Given the description of an element on the screen output the (x, y) to click on. 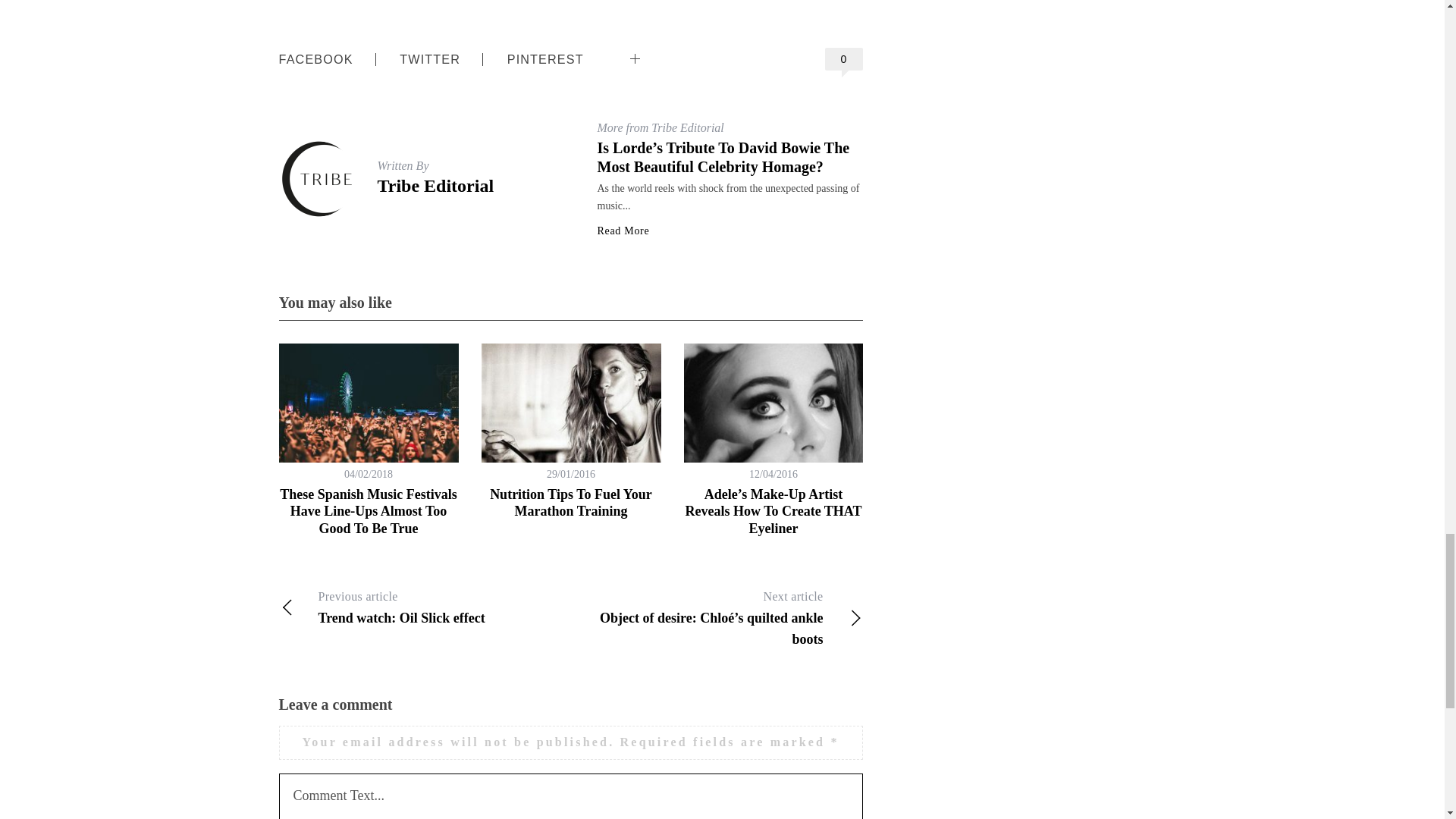
Read More (622, 231)
PINTEREST (544, 59)
LINKEDIN (679, 47)
Tribe Editorial (436, 185)
TWITTER (429, 59)
FACEBOOK (316, 59)
Nutrition Tips To Fuel Your Marathon Training (570, 502)
0 (844, 58)
